Given the description of an element on the screen output the (x, y) to click on. 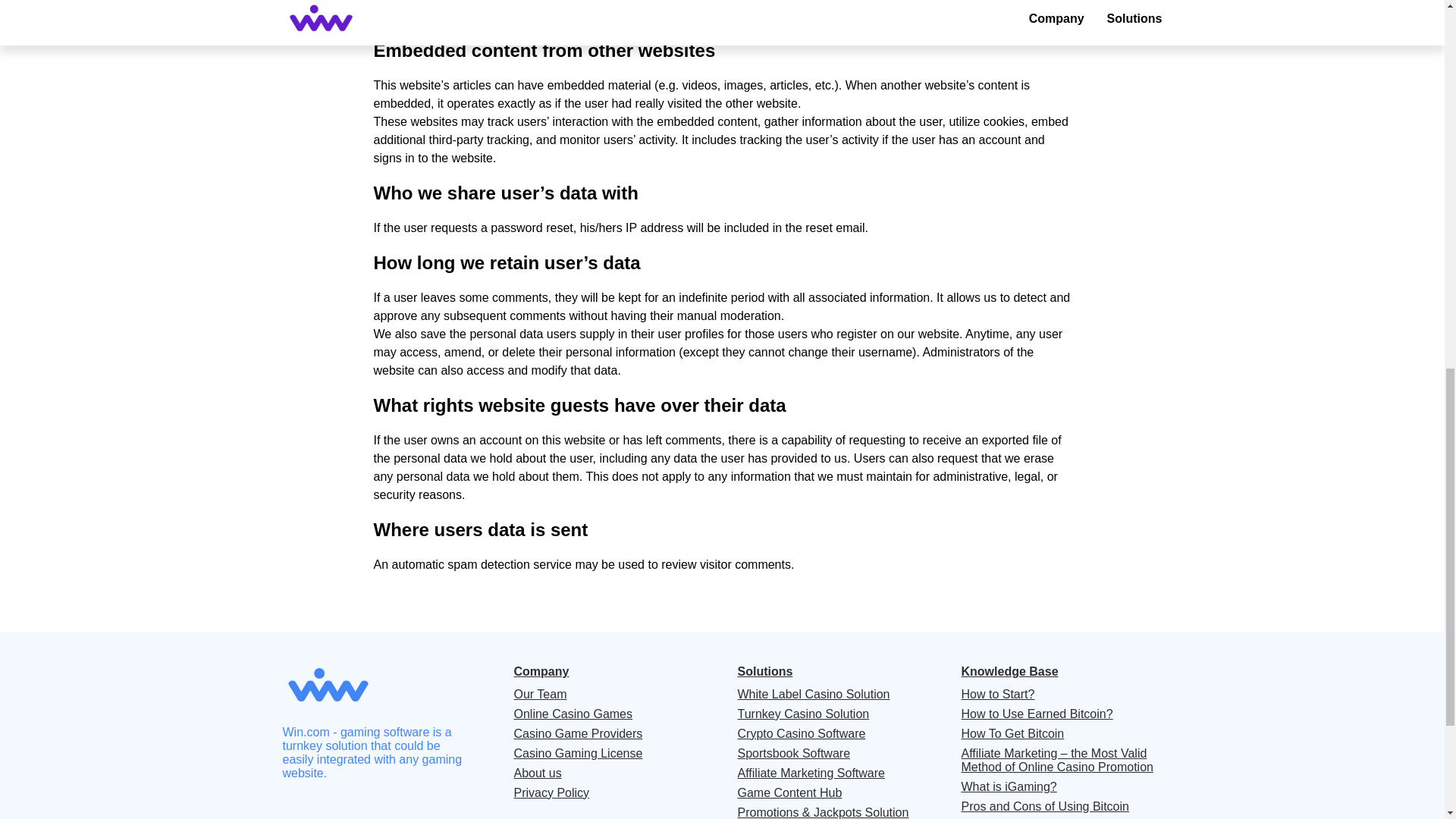
How To Get Bitcoin (1012, 733)
Casino Game Providers (578, 733)
Knowledge Base (1009, 672)
Affiliate Marketing Software (809, 772)
Online Casino Games (573, 713)
How to Start? (997, 694)
Company (541, 672)
What is iGaming? (1008, 786)
Our Team (540, 694)
Casino Gaming License (578, 753)
Privacy Policy (551, 792)
Sportsbook Software (793, 753)
How to Use Earned Bitcoin? (1036, 713)
About us (537, 772)
Game Content Hub (788, 792)
